Given the description of an element on the screen output the (x, y) to click on. 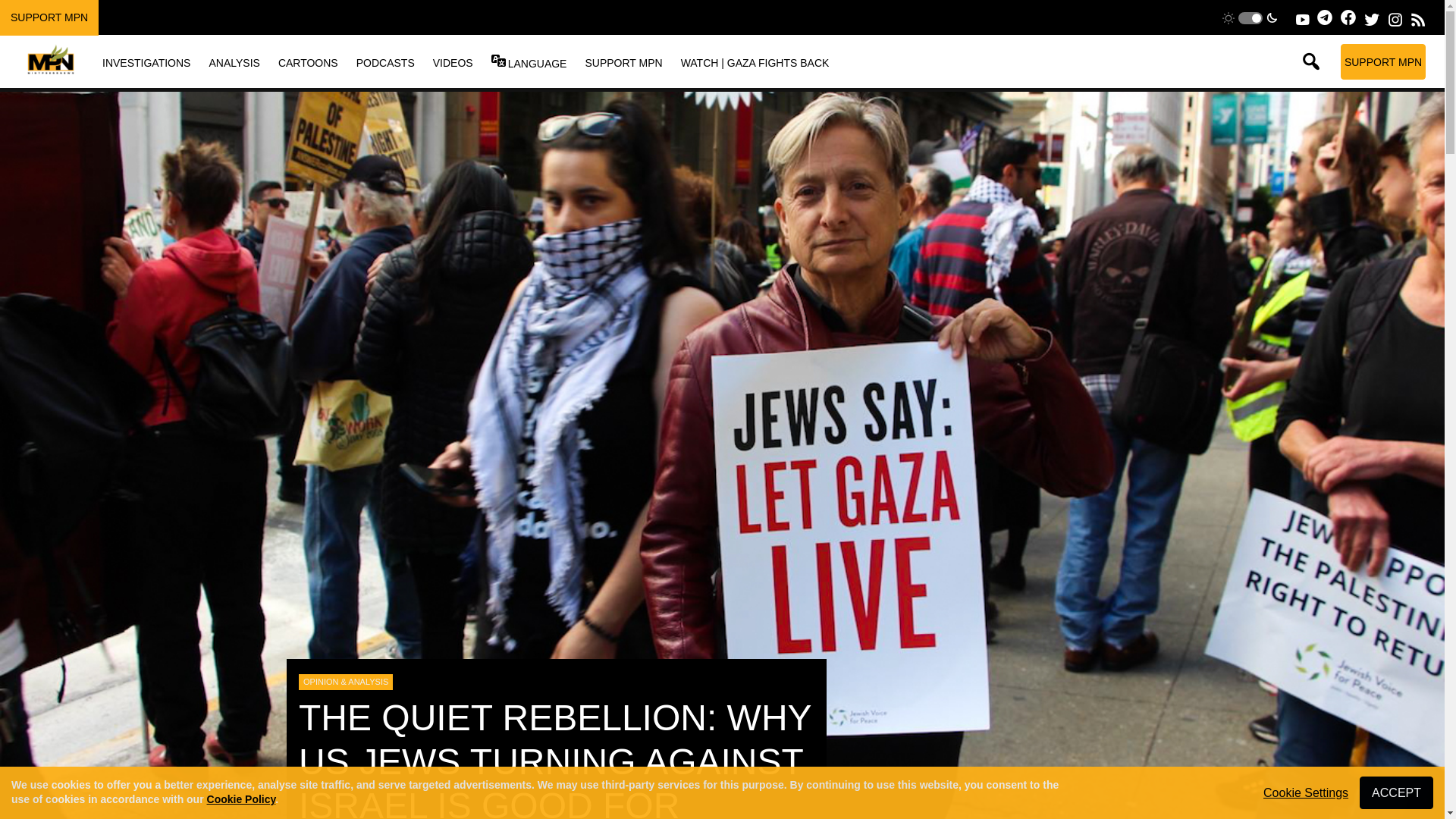
PODCASTS (385, 62)
SUPPORT MPN (623, 62)
SUPPORT MPN (1382, 61)
VIDEOS (452, 62)
INVESTIGATIONS (145, 62)
SUPPORT MPN (48, 17)
LANGUAGE (536, 63)
CARTOONS (307, 62)
ANALYSIS (233, 62)
